Given the description of an element on the screen output the (x, y) to click on. 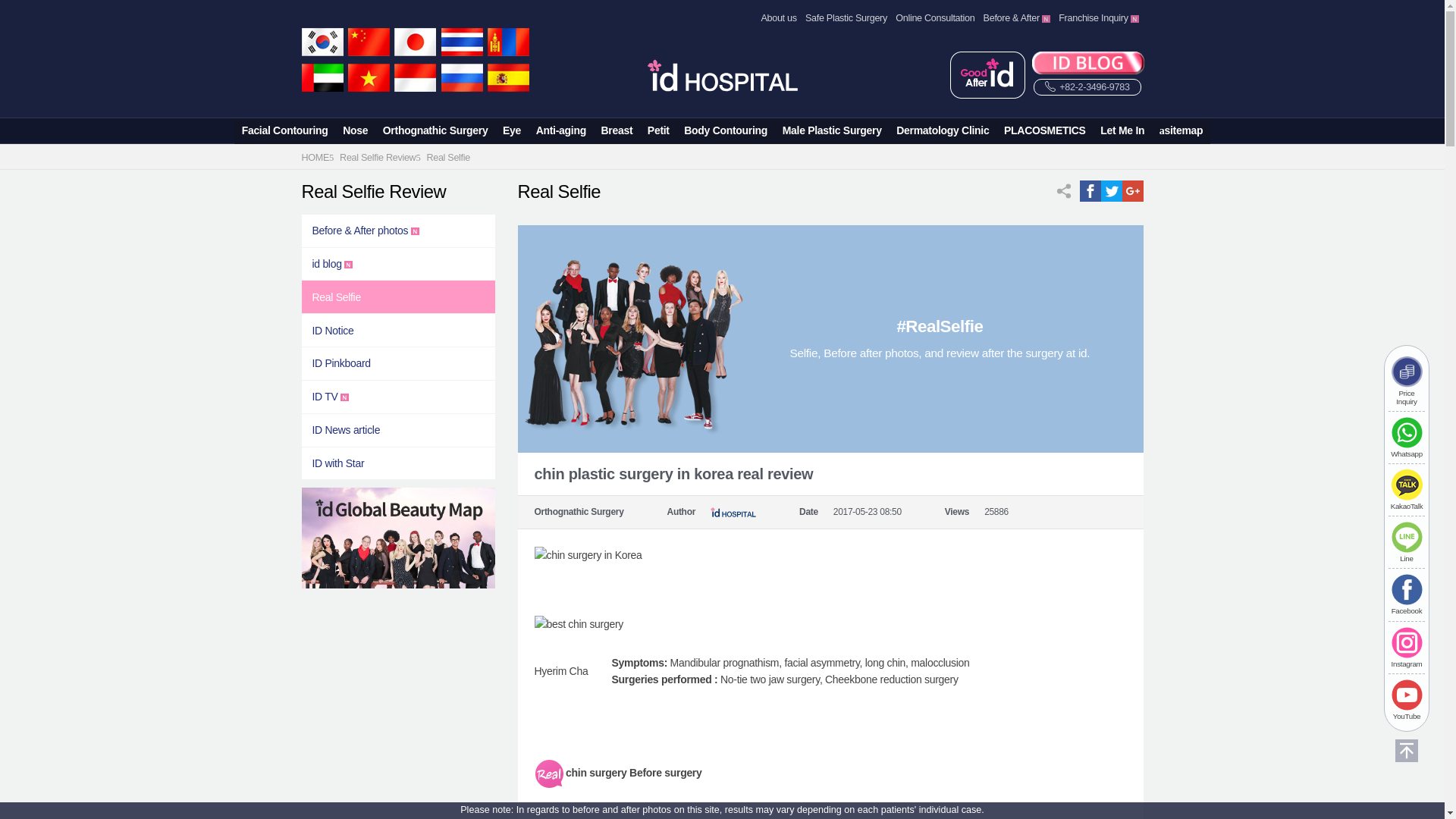
CN (368, 41)
VN (368, 77)
ID (414, 77)
Online Consultation (934, 18)
RU (462, 77)
KR (322, 41)
MN (508, 41)
TH (462, 41)
ES (508, 77)
Safe Plastic Surgery (845, 18)
Top (1406, 750)
About us (779, 18)
Go To TOP (1406, 765)
AE (322, 77)
